Given the description of an element on the screen output the (x, y) to click on. 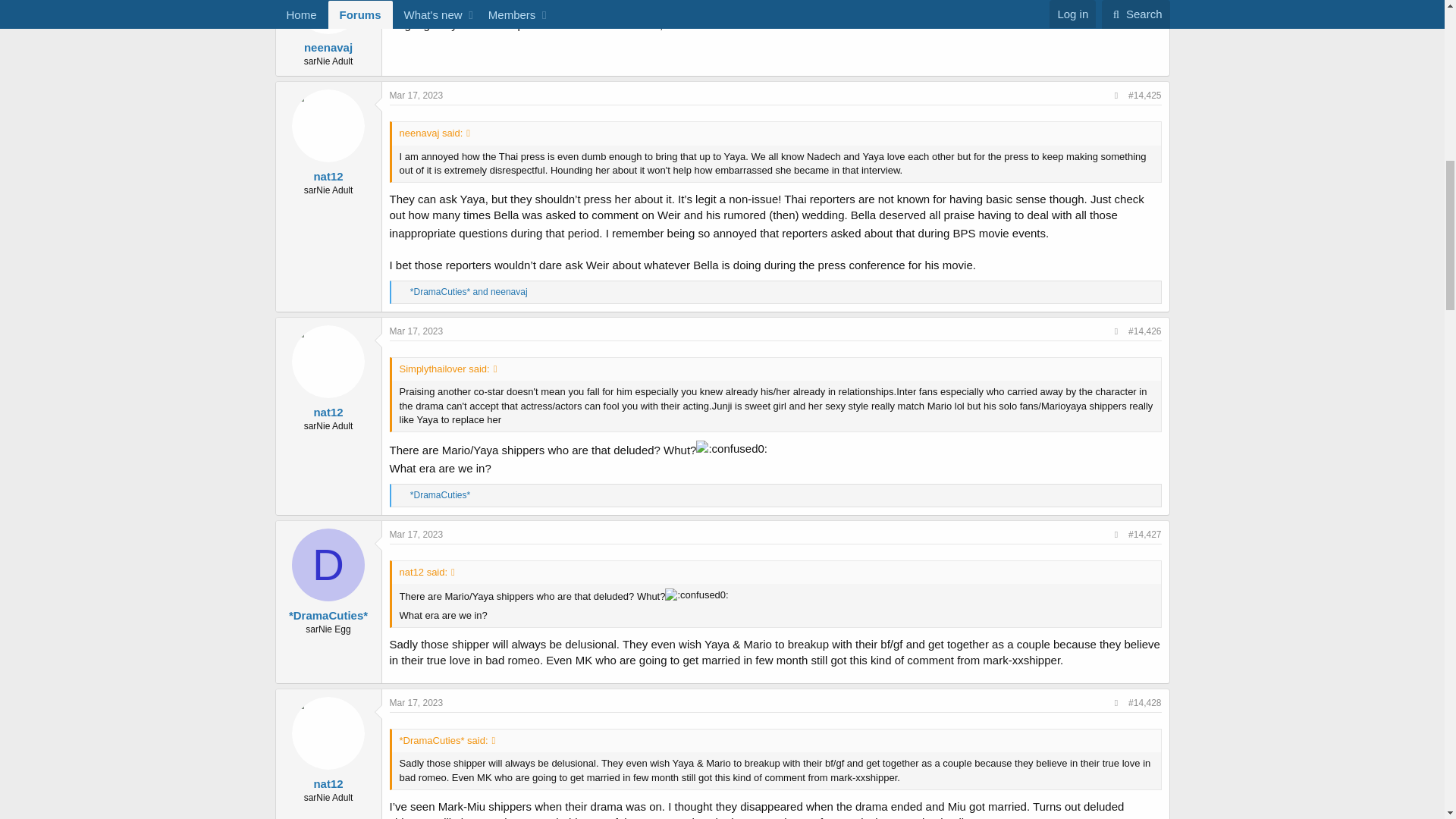
Mar 17, 2023 at 8:00 AM (417, 95)
Like (401, 292)
Mad    :mad: (1056, 230)
